Given the description of an element on the screen output the (x, y) to click on. 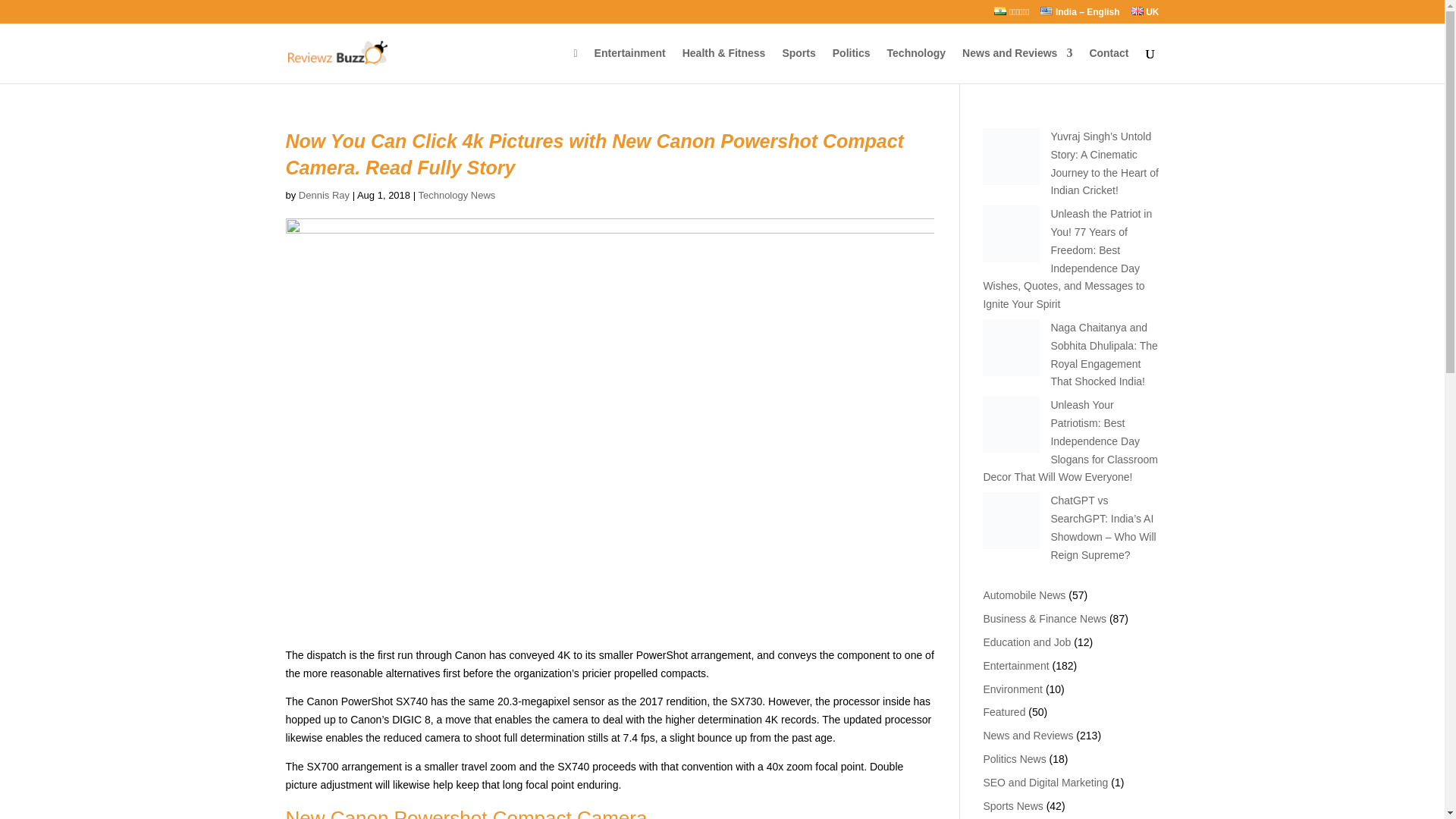
Posts by Dennis Ray (323, 194)
Contact (1108, 65)
Sports News (1012, 805)
Sports (798, 65)
Dennis Ray (323, 194)
Technology (916, 65)
Politics News (1013, 758)
UK (1144, 14)
Education and Job (1026, 642)
Entertainment (629, 65)
